Given the description of an element on the screen output the (x, y) to click on. 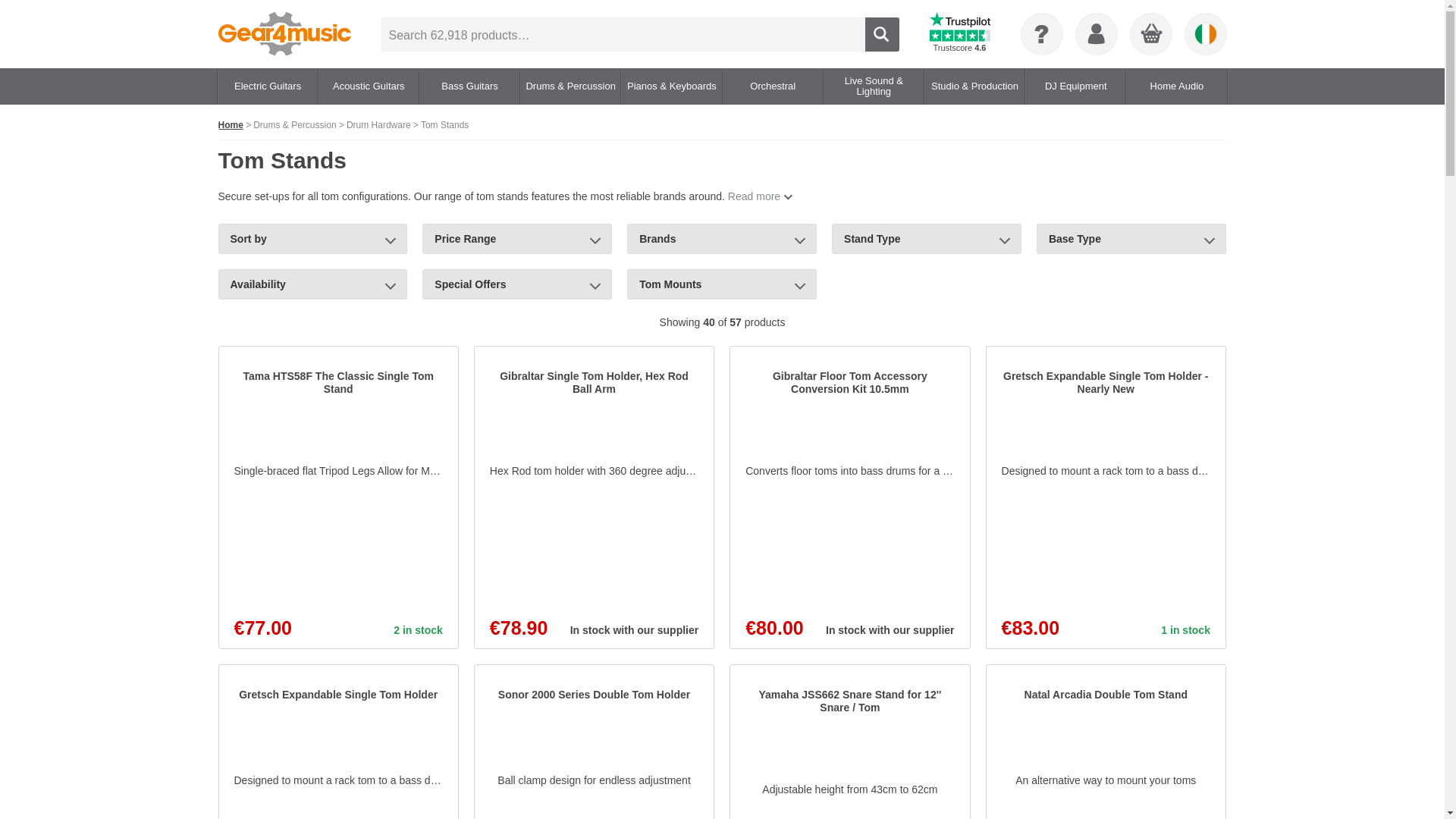
Search (881, 33)
Electric Guitars (267, 85)
Trustscore 4.6 (960, 34)
Basket (1150, 34)
Log In (1095, 33)
Click for Gear4music home (284, 34)
